Given the description of an element on the screen output the (x, y) to click on. 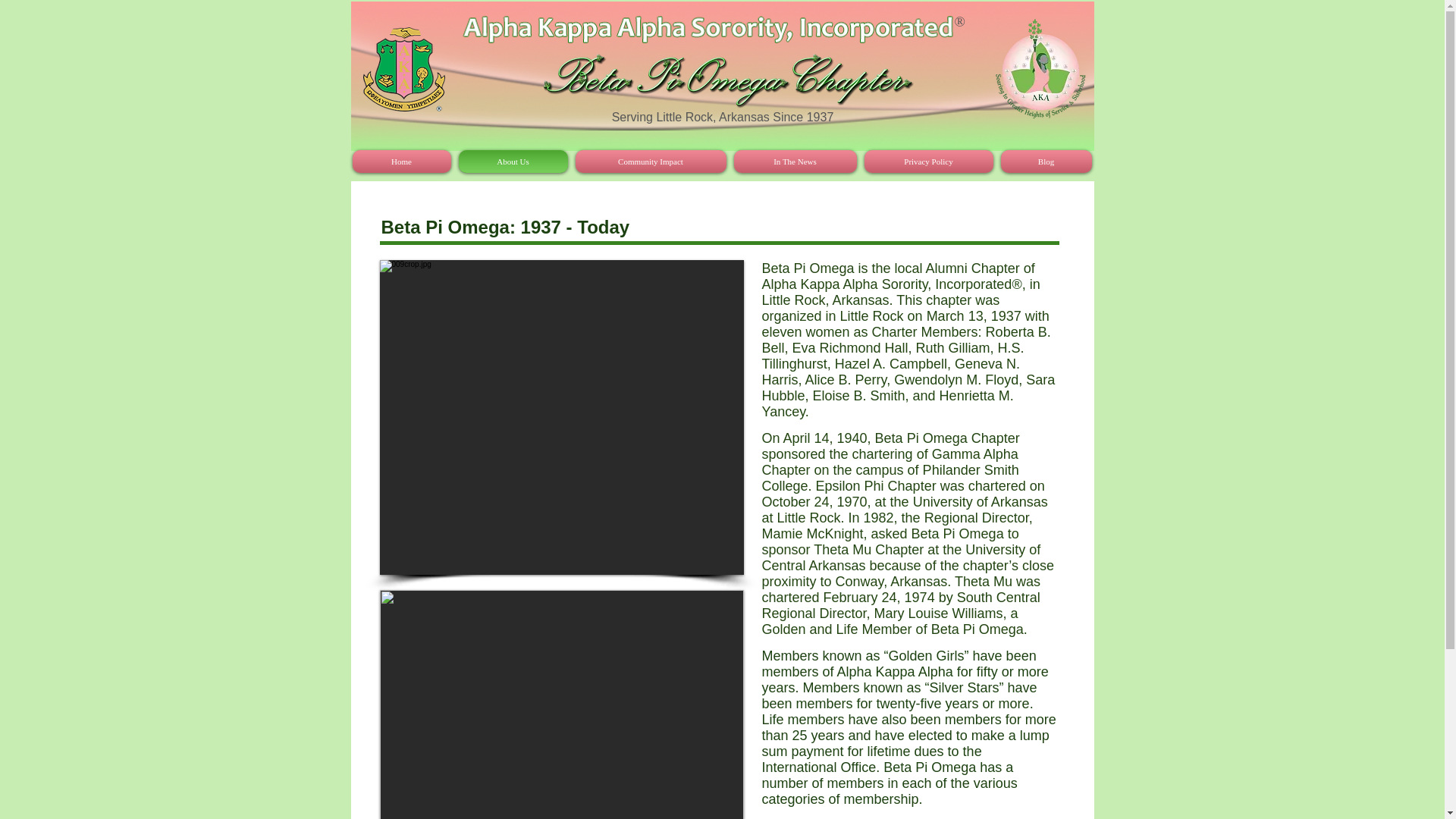
Blog (1042, 160)
Community Impact (651, 160)
Privacy Policy (927, 160)
About Us (513, 160)
Home (403, 160)
In The News (794, 160)
